Given the description of an element on the screen output the (x, y) to click on. 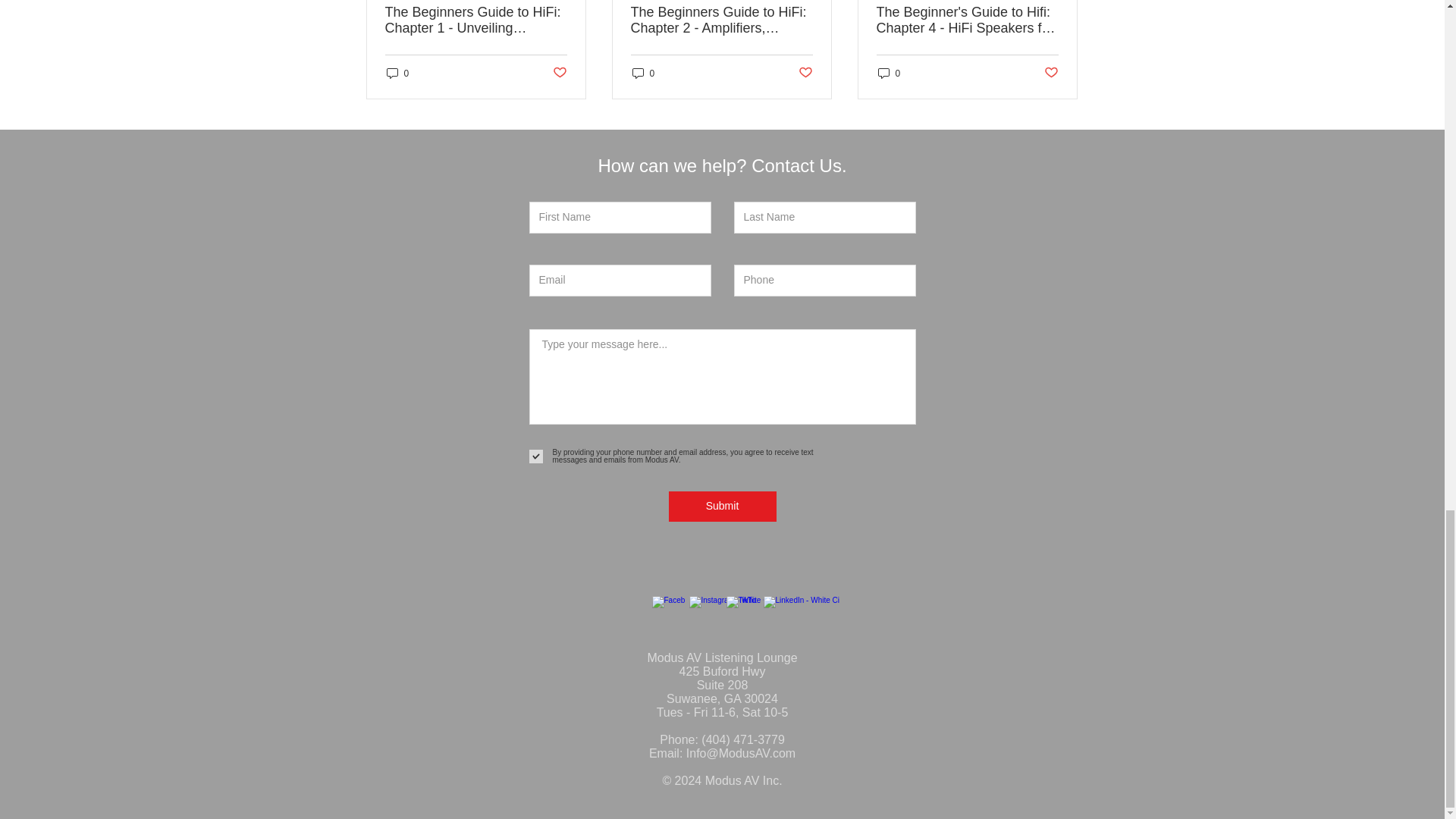
0 (643, 73)
Post not marked as liked (804, 73)
0 (397, 73)
Post not marked as liked (558, 73)
